Given the description of an element on the screen output the (x, y) to click on. 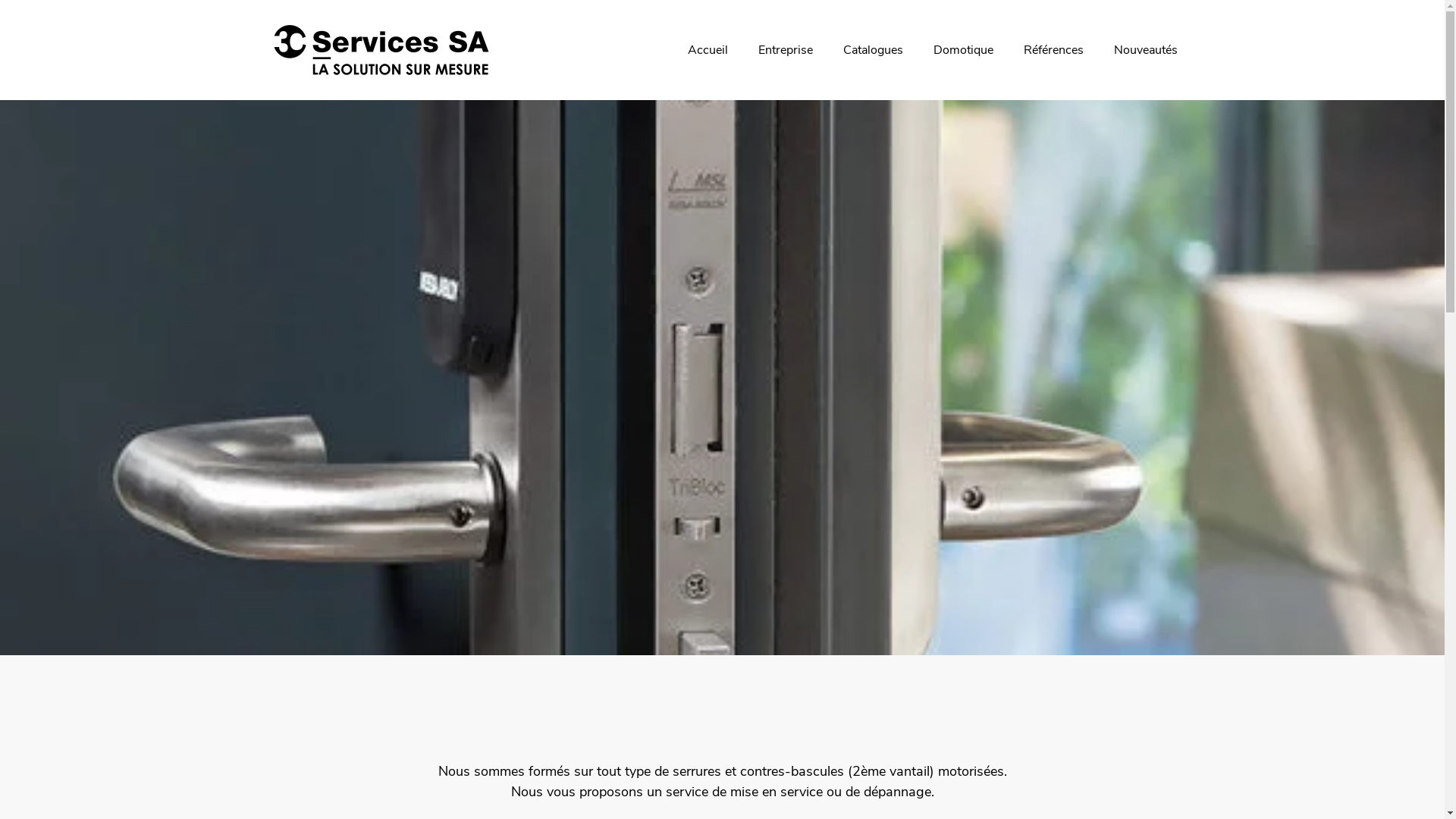
Domotique Element type: text (962, 49)
Entreprise Element type: text (785, 49)
Catalogues Element type: text (873, 49)
Accueil Element type: text (707, 49)
